Given the description of an element on the screen output the (x, y) to click on. 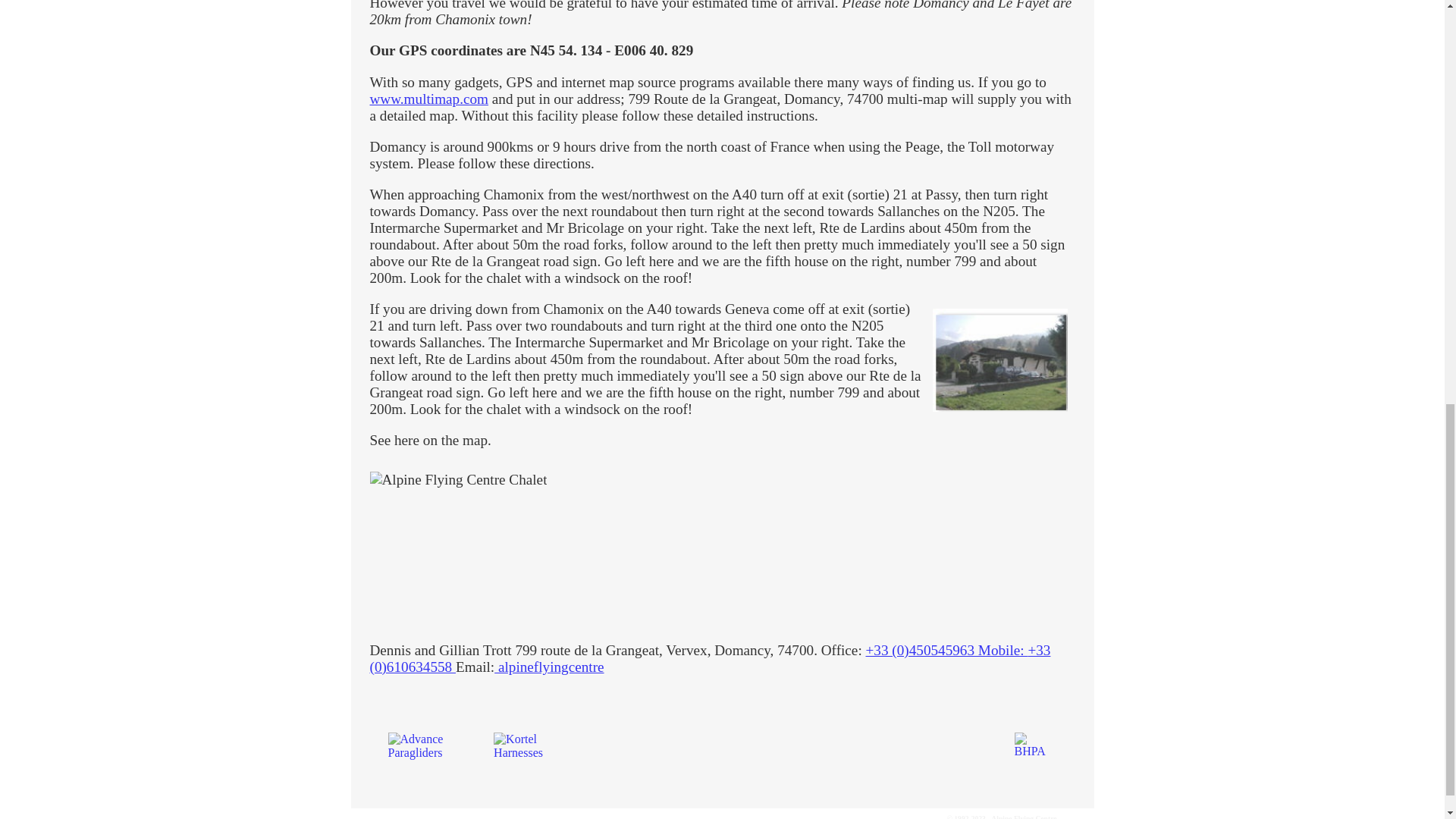
www.multimap.com (429, 98)
alpineflyingcentre (549, 666)
Email: (475, 666)
